Given the description of an element on the screen output the (x, y) to click on. 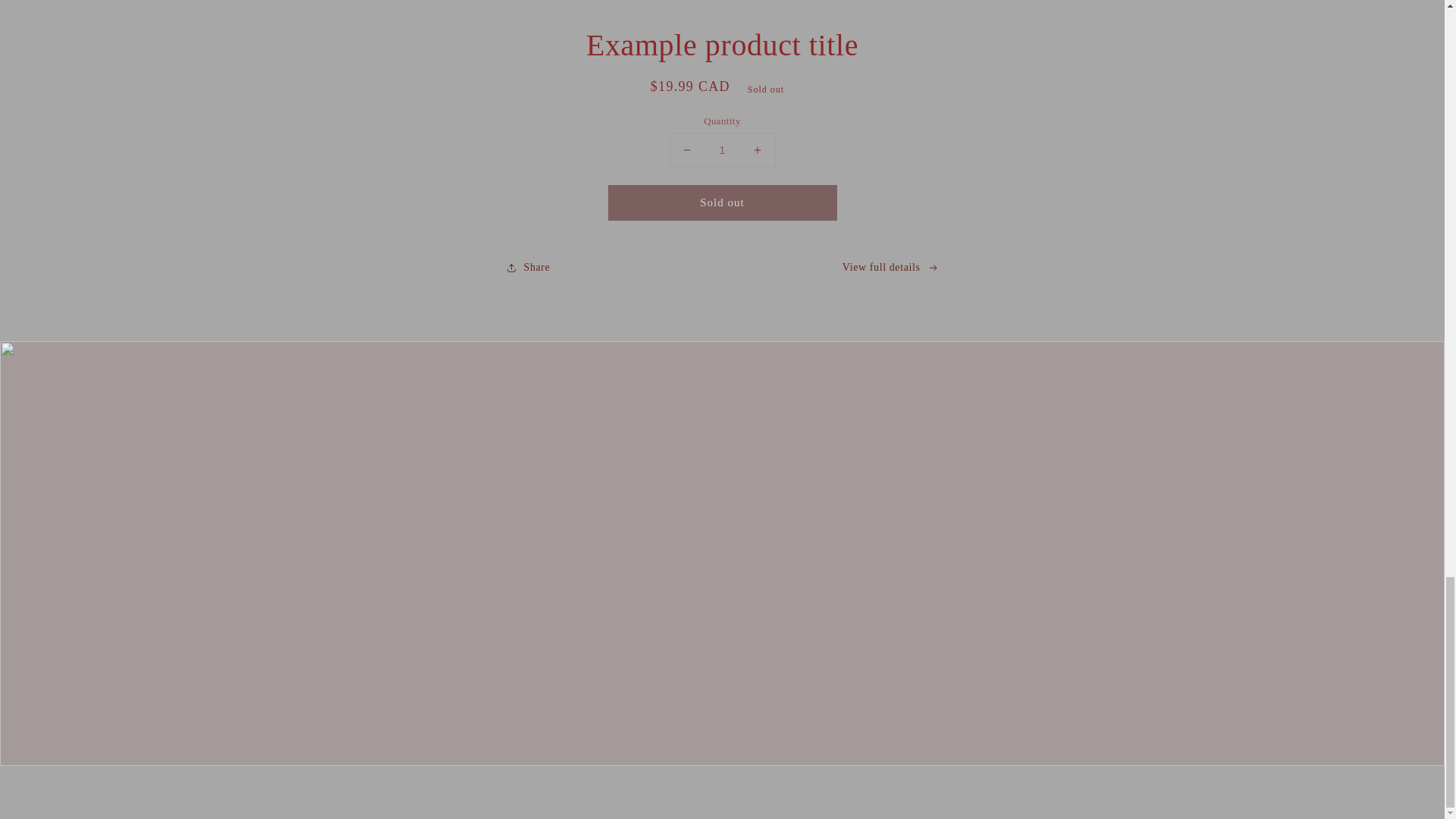
1 (721, 149)
